Given the description of an element on the screen output the (x, y) to click on. 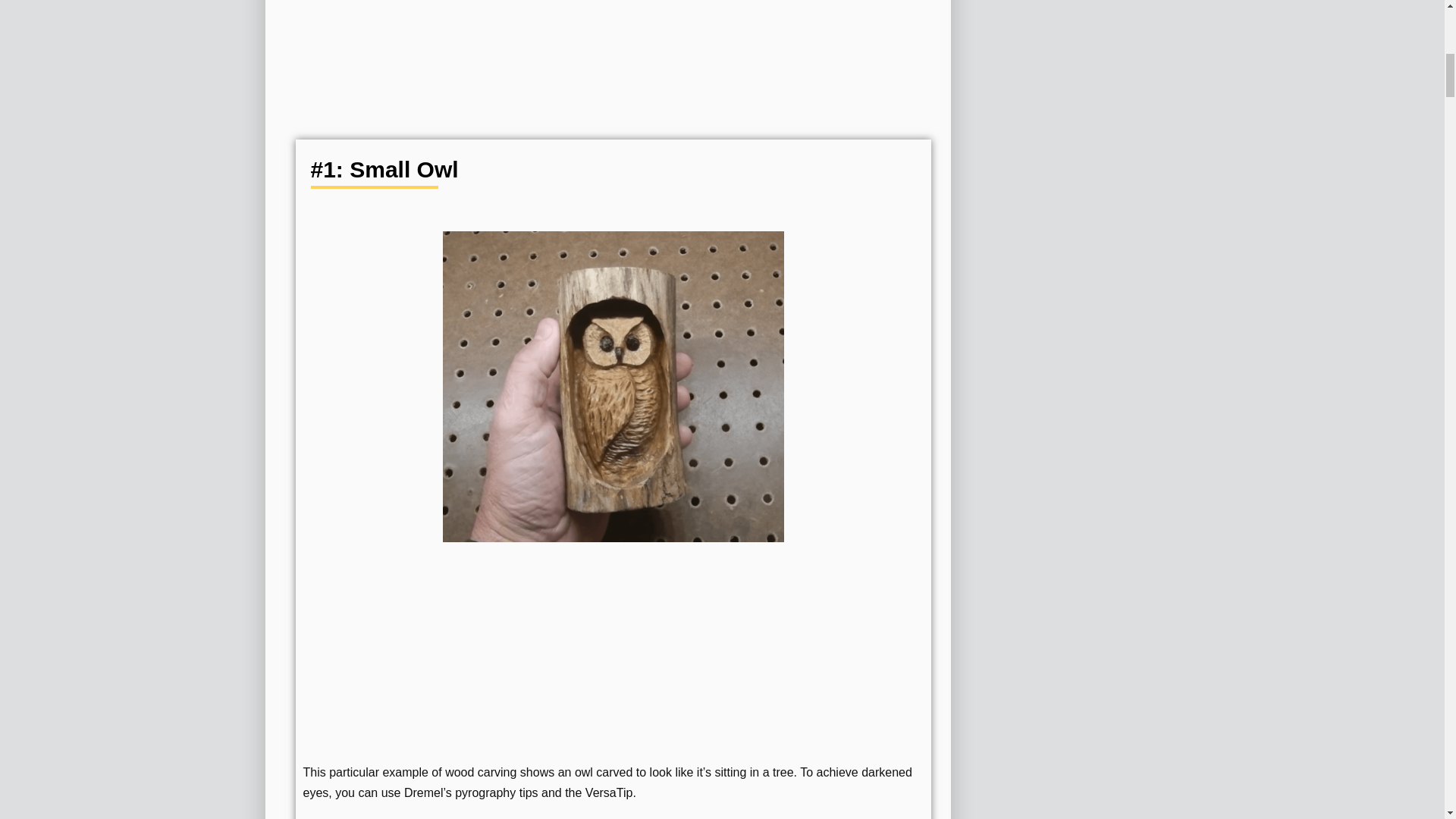
Small Owl (613, 386)
